Given the description of an element on the screen output the (x, y) to click on. 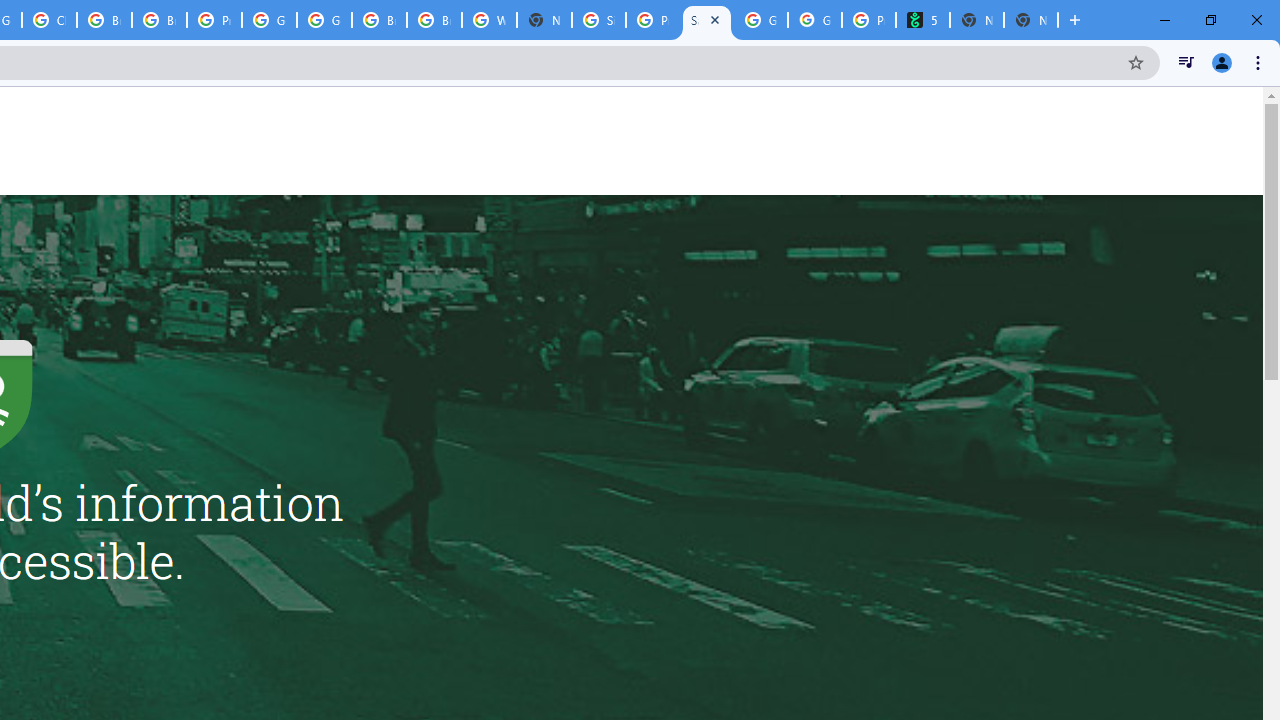
New Tab (1030, 20)
Browse Chrome as a guest - Computer - Google Chrome Help (103, 20)
Control your music, videos, and more (1185, 62)
Browse Chrome as a guest - Computer - Google Chrome Help (434, 20)
Sign in - Google Accounts (598, 20)
Browse Chrome as a guest - Computer - Google Chrome Help (379, 20)
Browse Chrome as a guest - Computer - Google Chrome Help (158, 20)
